Given the description of an element on the screen output the (x, y) to click on. 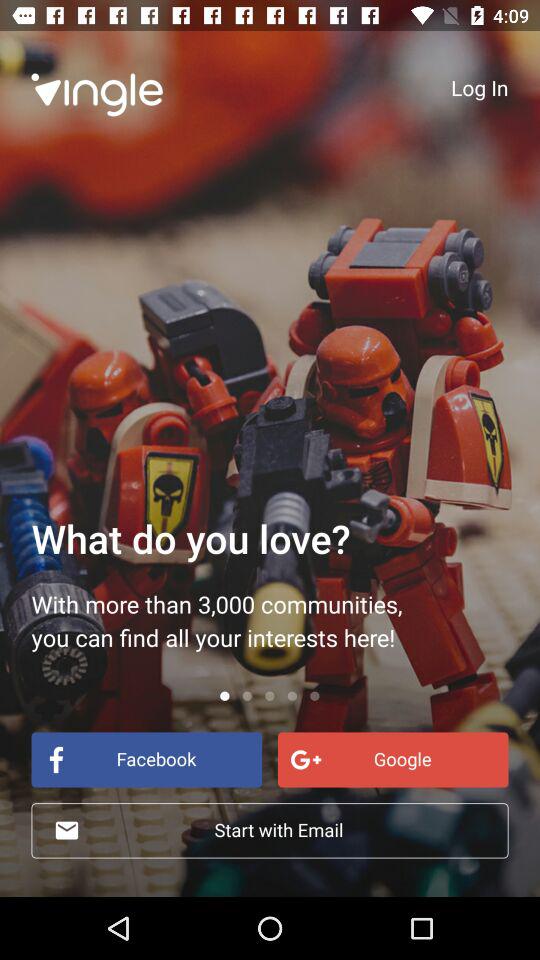
turn on item next to the google item (146, 759)
